Given the description of an element on the screen output the (x, y) to click on. 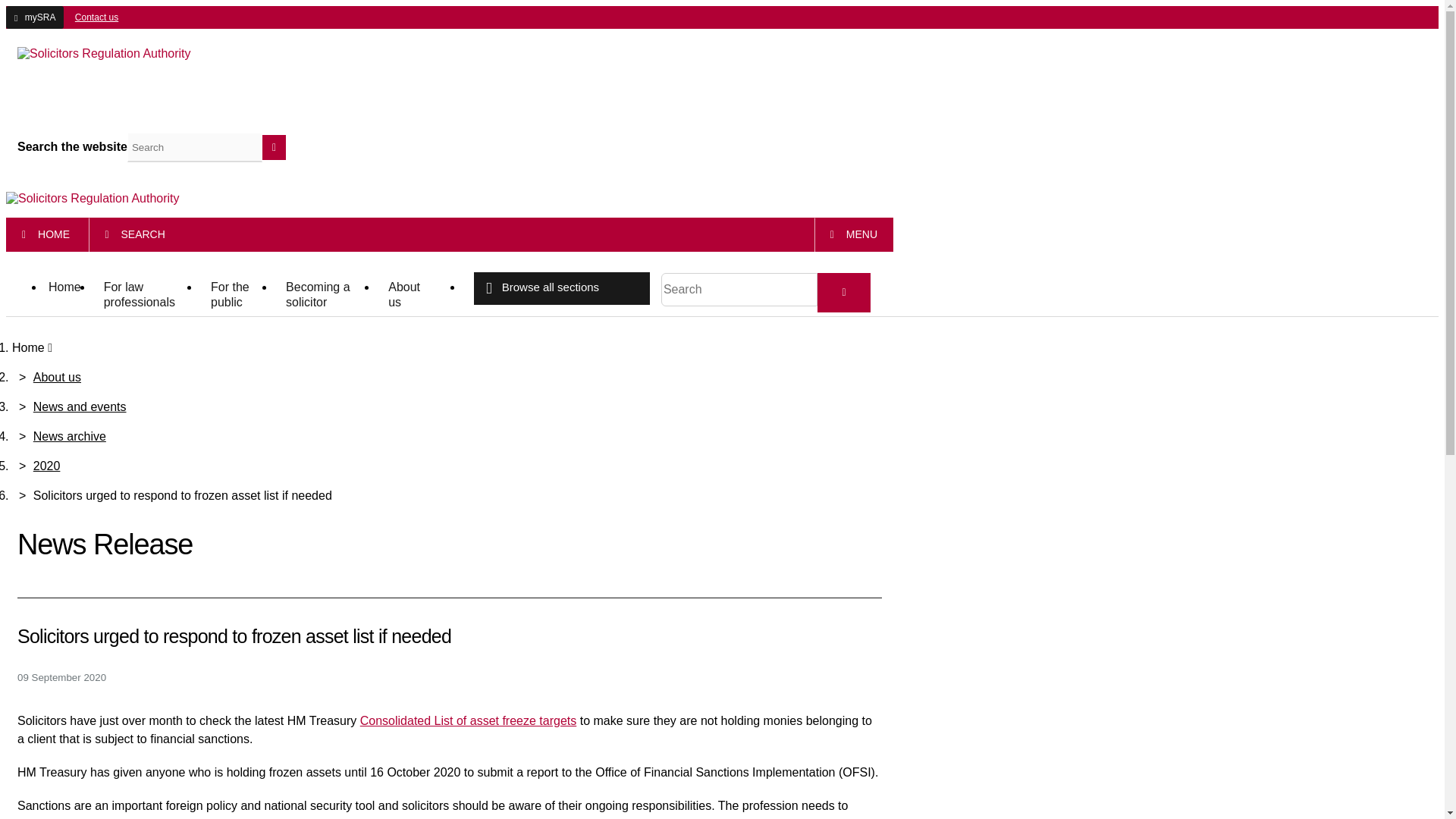
HOME (45, 234)
2020 (47, 465)
Home (64, 287)
Home (64, 287)
MENU (853, 234)
Becoming a solicitor (325, 295)
For the public (237, 295)
Becoming a solicitor (325, 295)
News archive (69, 436)
For law professionals (145, 295)
